Given the description of an element on the screen output the (x, y) to click on. 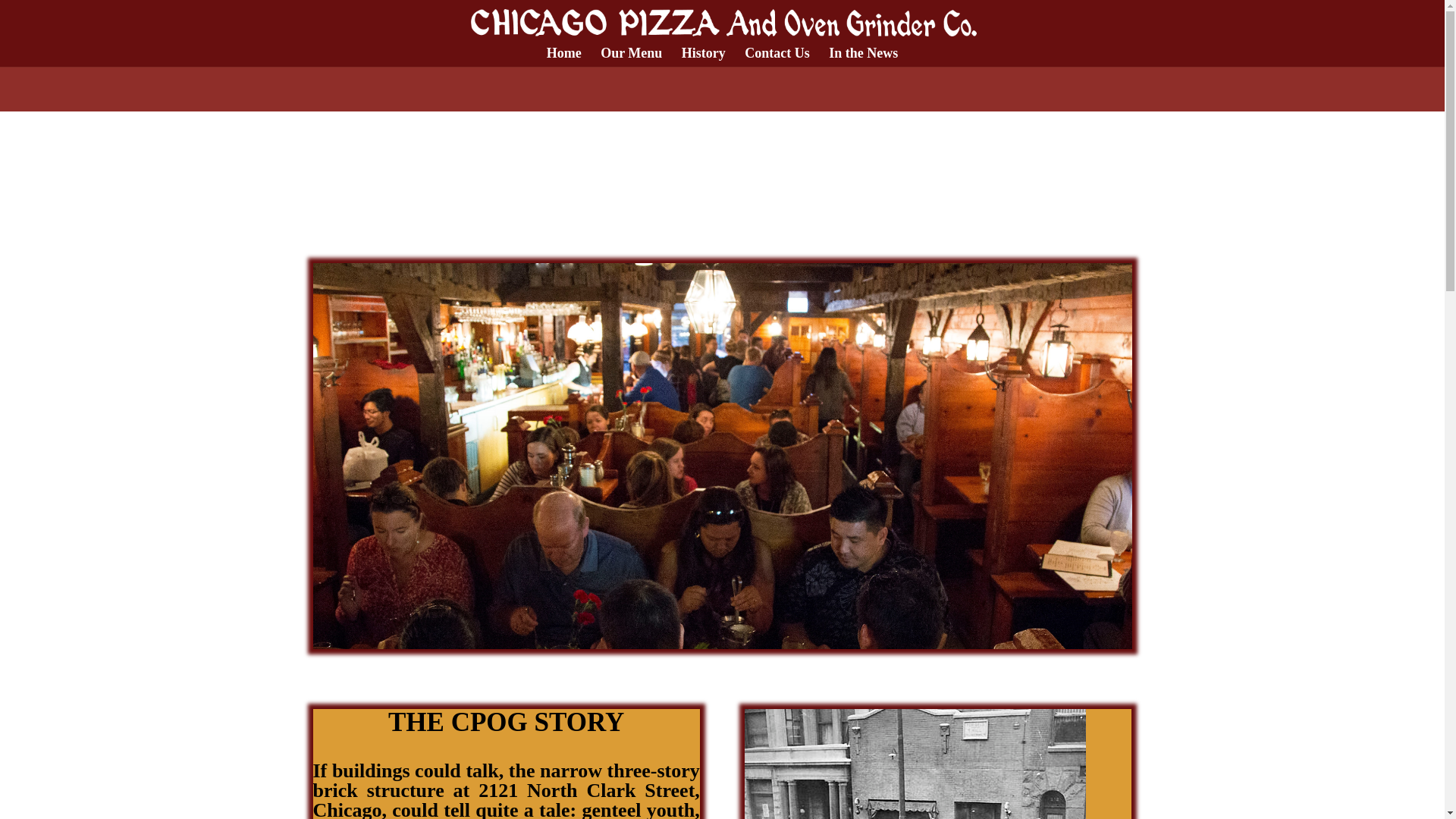
Our Menu (630, 56)
History (703, 56)
In the News (863, 56)
Home (563, 56)
Contact Us (776, 56)
